Given the description of an element on the screen output the (x, y) to click on. 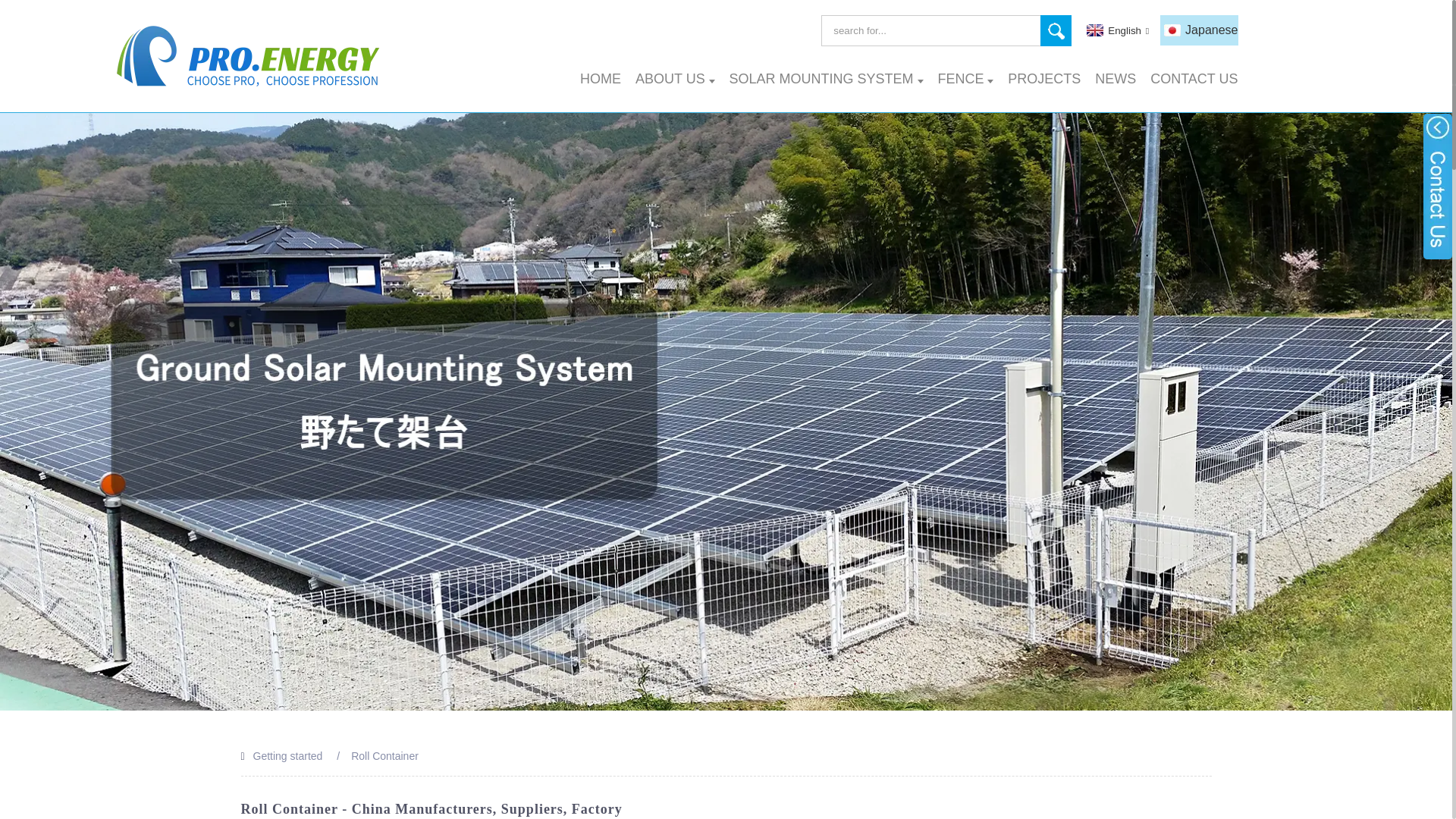
Roll Container (384, 756)
English (1115, 30)
Japanese (1198, 29)
PROJECTS (1043, 78)
Japanese (1198, 29)
SOLAR MOUNTING SYSTEM (826, 78)
Getting started (288, 756)
ABOUT US (674, 78)
CONTACT US (1193, 78)
